Given the description of an element on the screen output the (x, y) to click on. 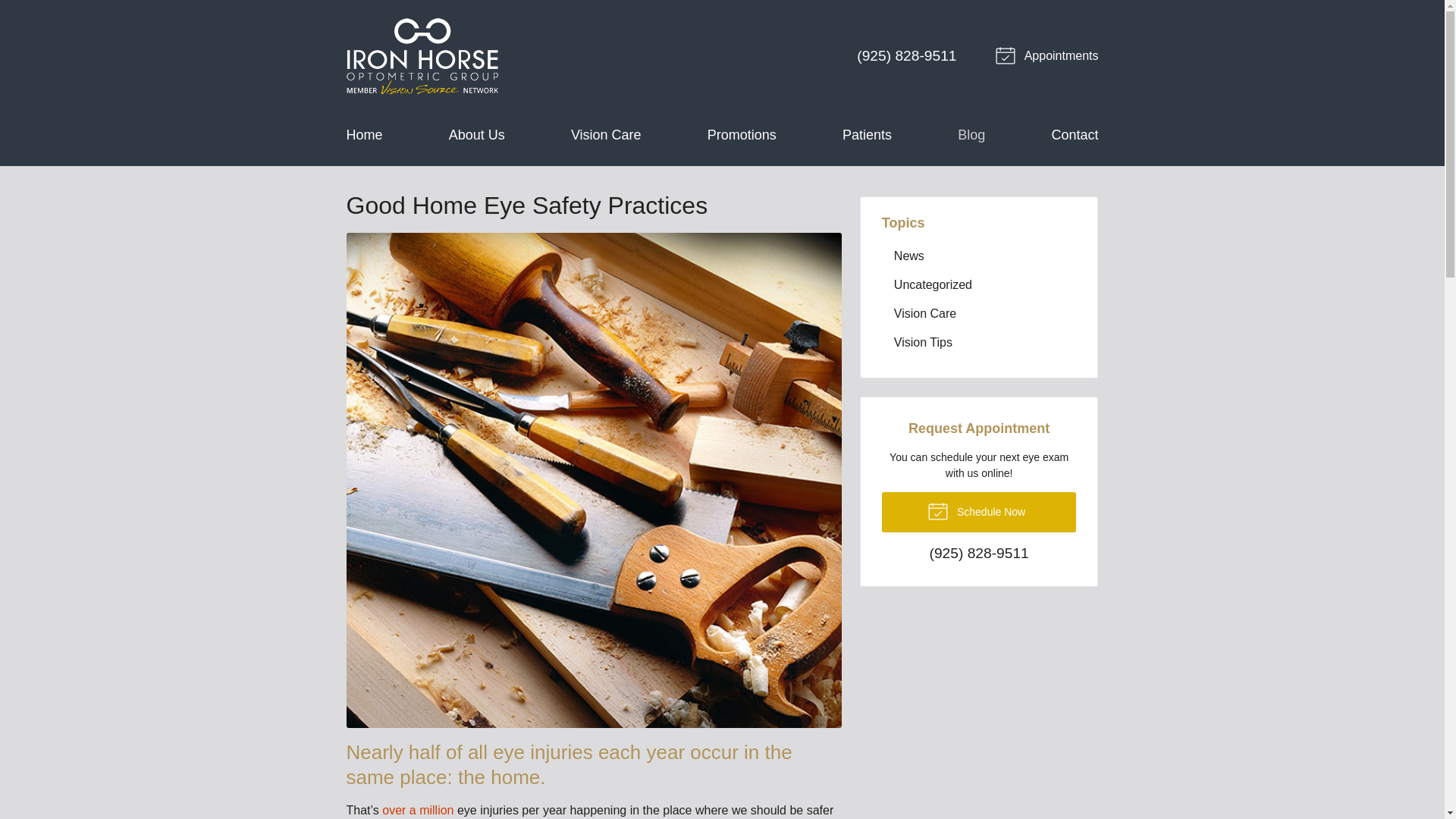
Request Appointment (1048, 55)
Promotions (741, 134)
Iron Horse Optometric Group (421, 56)
About Us (476, 134)
Appointments (1048, 55)
Schedule Now (979, 512)
Patients (867, 134)
Call practice (906, 55)
Call practice (979, 553)
Home (363, 134)
Vision Care (606, 134)
Contact (1074, 134)
over a million (416, 809)
